Given the description of an element on the screen output the (x, y) to click on. 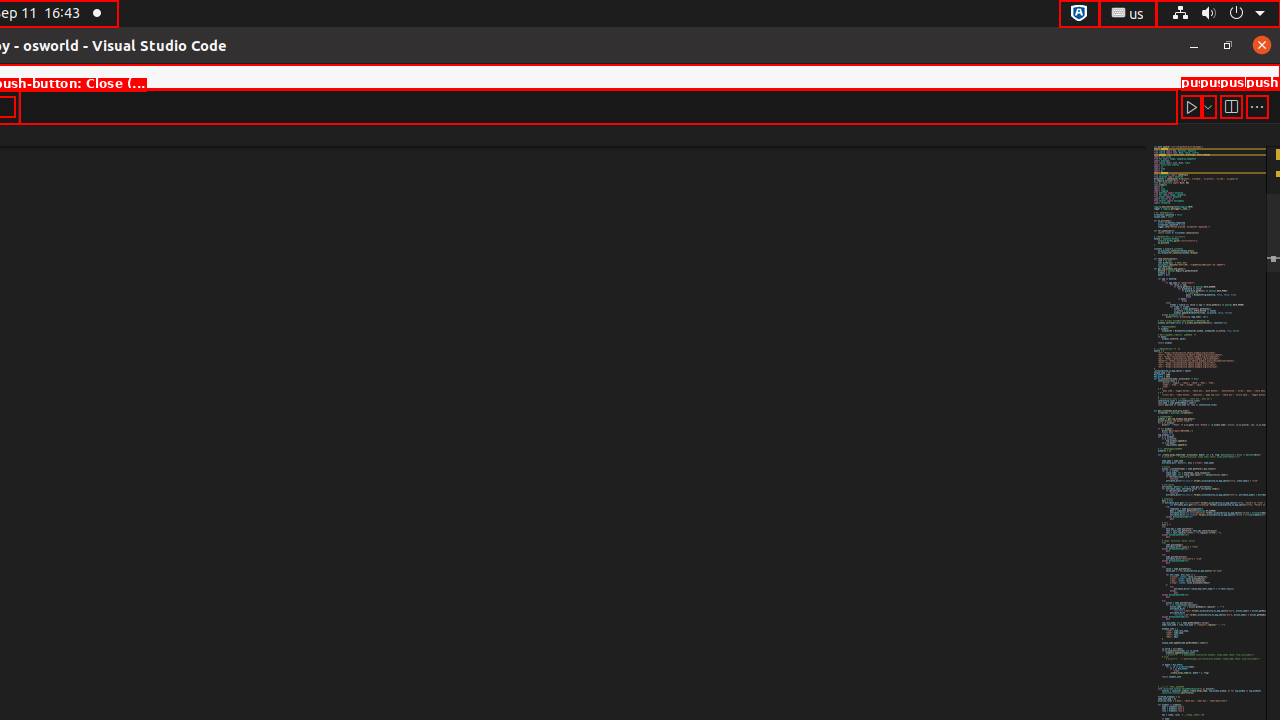
Split Editor Right (Ctrl+\) [Alt] Split Editor Down Element type: push-button (1231, 106)
Run Python File Element type: push-button (1192, 106)
